Given the description of an element on the screen output the (x, y) to click on. 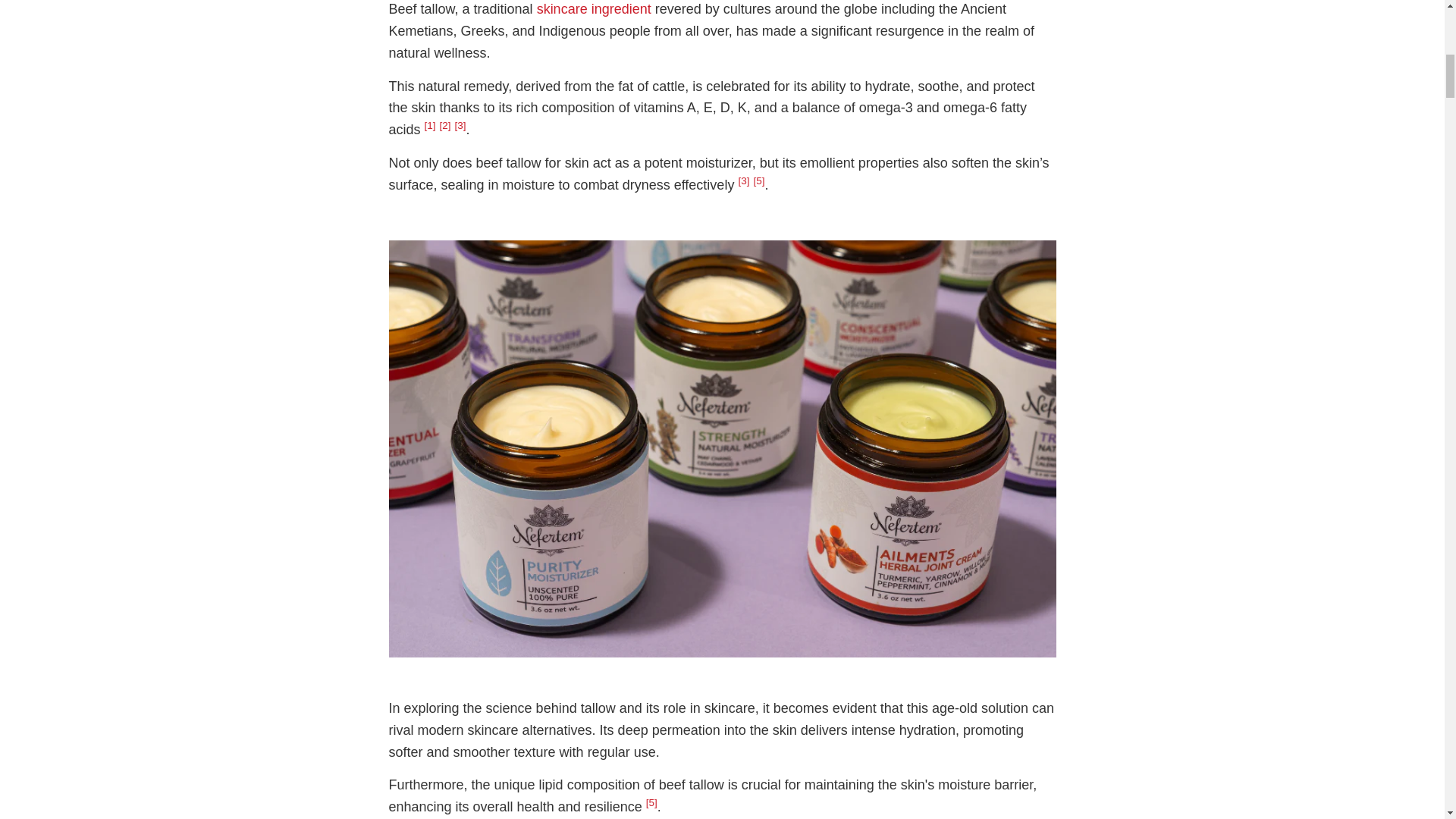
beef tallow moisturizers (721, 652)
